Given the description of an element on the screen output the (x, y) to click on. 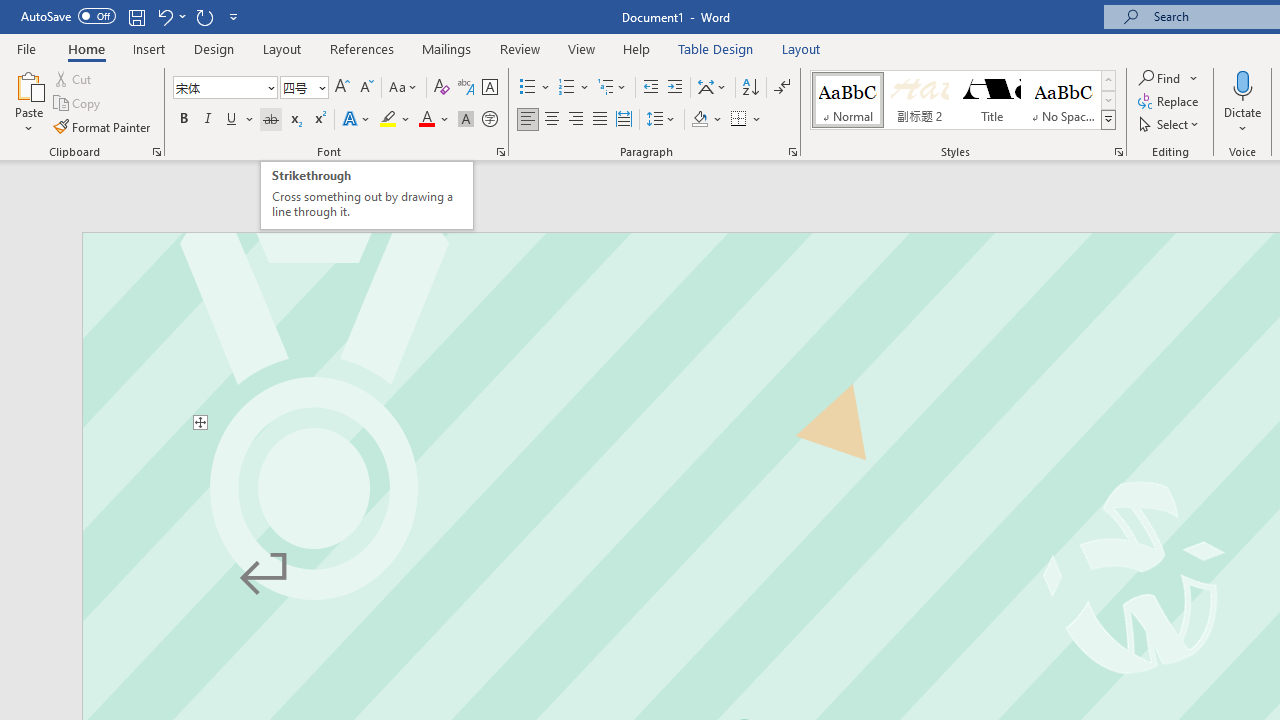
Undo Text Fill Effect (170, 15)
